Given the description of an element on the screen output the (x, y) to click on. 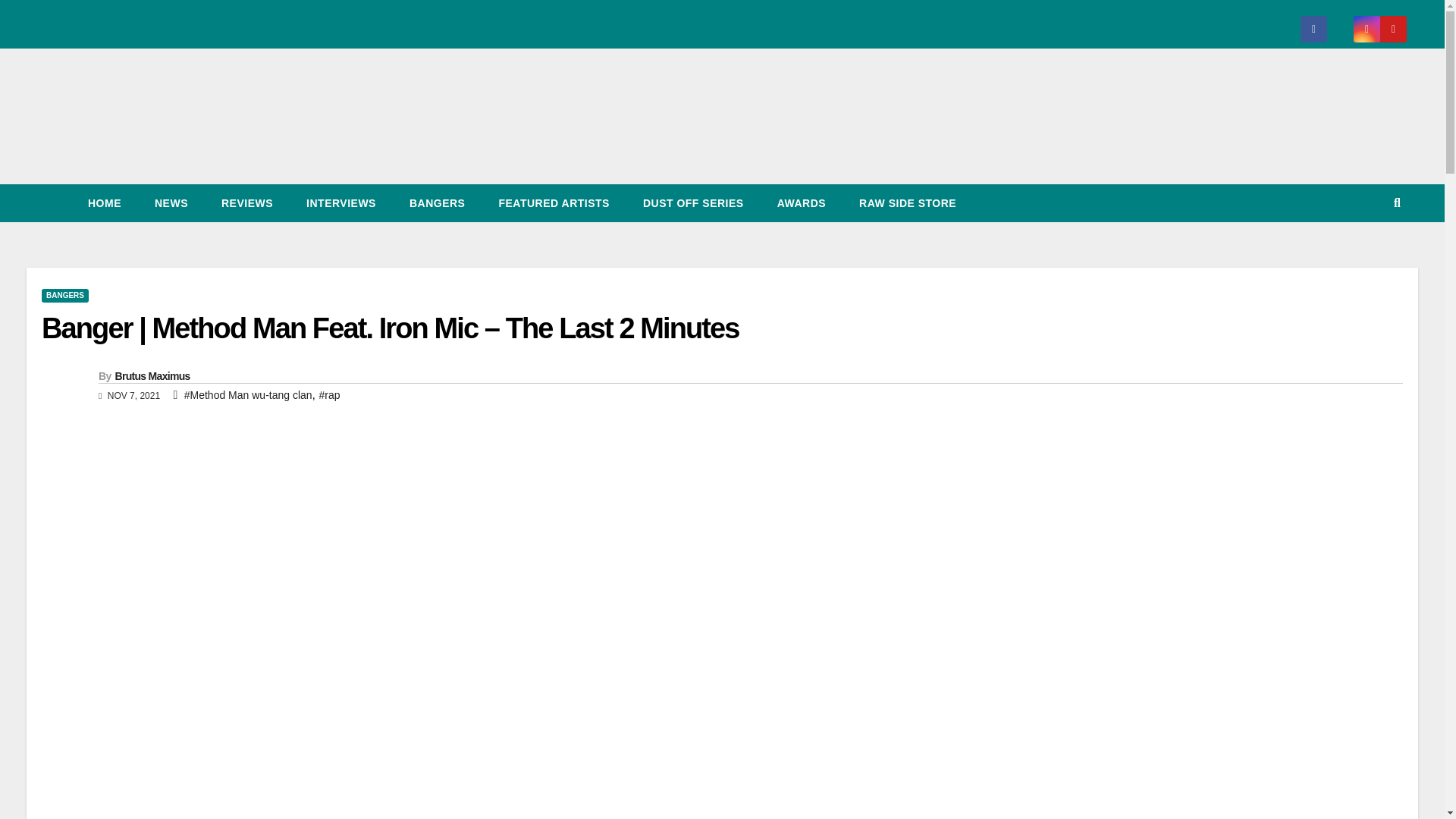
FEATURED ARTISTS (553, 202)
FEATURED ARTISTS (553, 202)
INTERVIEWS (341, 202)
NEWS (171, 202)
HOME (104, 202)
Brutus Maximus (152, 376)
REVIEWS (247, 202)
DUST OFF SERIES (693, 202)
NEWS (171, 202)
INTERVIEWS (341, 202)
